Given the description of an element on the screen output the (x, y) to click on. 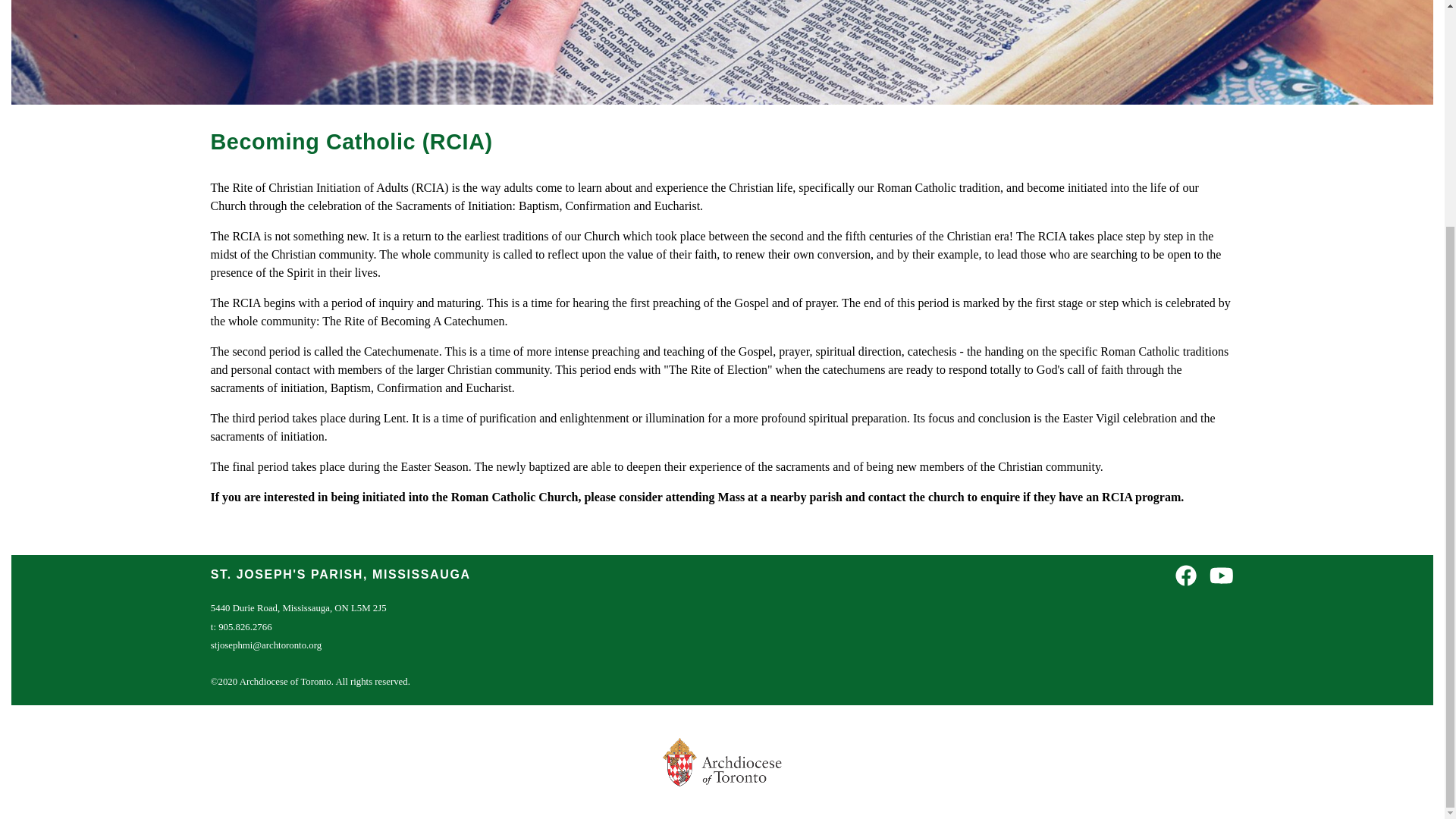
Contact us by email (266, 644)
Get directions (299, 607)
Visit us on YouTube (1221, 576)
Archdiocese of Toronto (722, 761)
Contact us by phone (241, 626)
Visit us on Facebook (1185, 576)
